Given the description of an element on the screen output the (x, y) to click on. 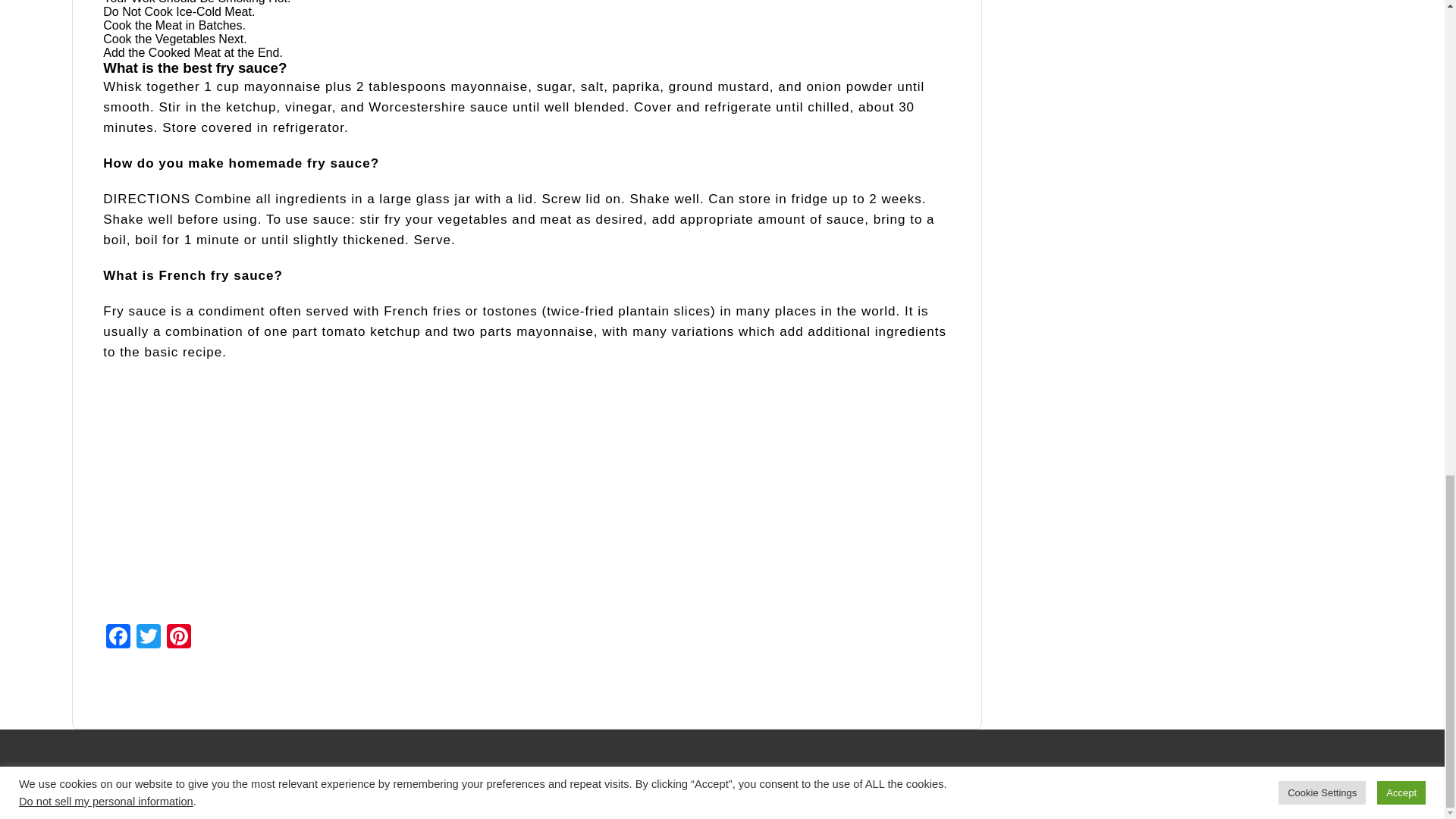
delicious all-purpose stir fry sauce you need to try asap (292, 483)
Twitter (148, 637)
Theme by Zidithemes (714, 796)
Pinterest (178, 637)
Pinterest (178, 637)
Twitter (148, 637)
Facebook (118, 637)
Facebook (118, 637)
